Given the description of an element on the screen output the (x, y) to click on. 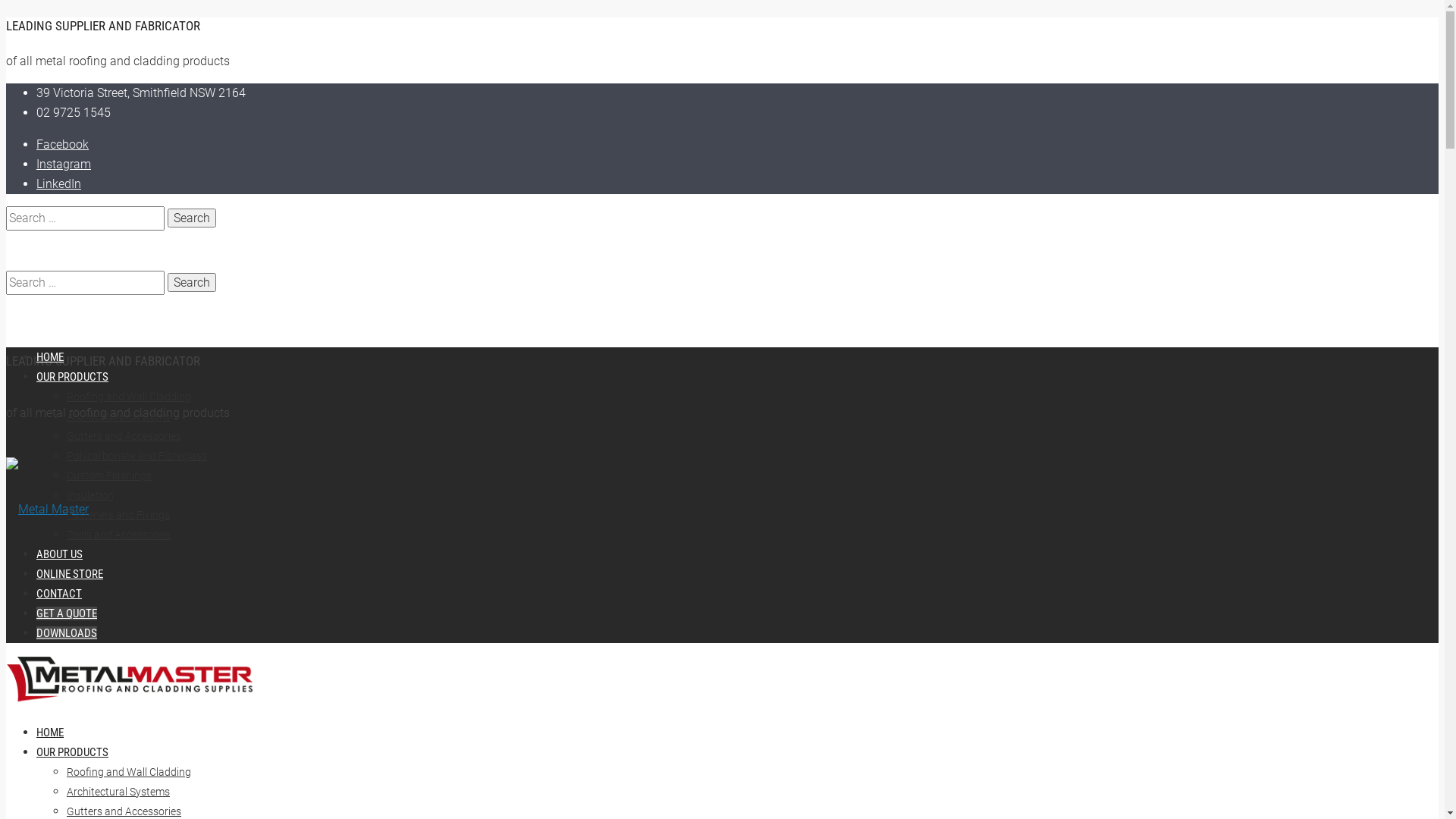
OUR PRODUCTS Element type: text (72, 376)
OUR PRODUCTS Element type: text (72, 752)
Tools and Accessories Element type: text (118, 534)
ABOUT US Element type: text (59, 554)
Search Element type: text (191, 217)
Fasteners and Fixings Element type: text (117, 514)
Roofing and Wall Cladding Element type: text (128, 396)
Polycarbonate and Fibreglass Element type: text (136, 455)
Gutters and Accessories Element type: text (123, 811)
LinkedIn Element type: text (58, 183)
Architectural Systems Element type: text (117, 791)
Search Element type: text (191, 282)
Gutters and Accessories Element type: text (123, 435)
02 9725 1545 Element type: text (73, 112)
Architectural Systems Element type: text (117, 416)
CONTACT Element type: text (58, 593)
DOWNLOADS Element type: text (66, 633)
HOME Element type: text (49, 732)
GET A QUOTE Element type: text (66, 613)
Custom Flashings Element type: text (108, 475)
Insulation Element type: text (89, 495)
Facebook Element type: text (62, 144)
Instagram Element type: text (63, 163)
HOME Element type: text (49, 357)
Roofing and Wall Cladding Element type: text (128, 771)
ONLINE STORE Element type: text (69, 573)
